Given the description of an element on the screen output the (x, y) to click on. 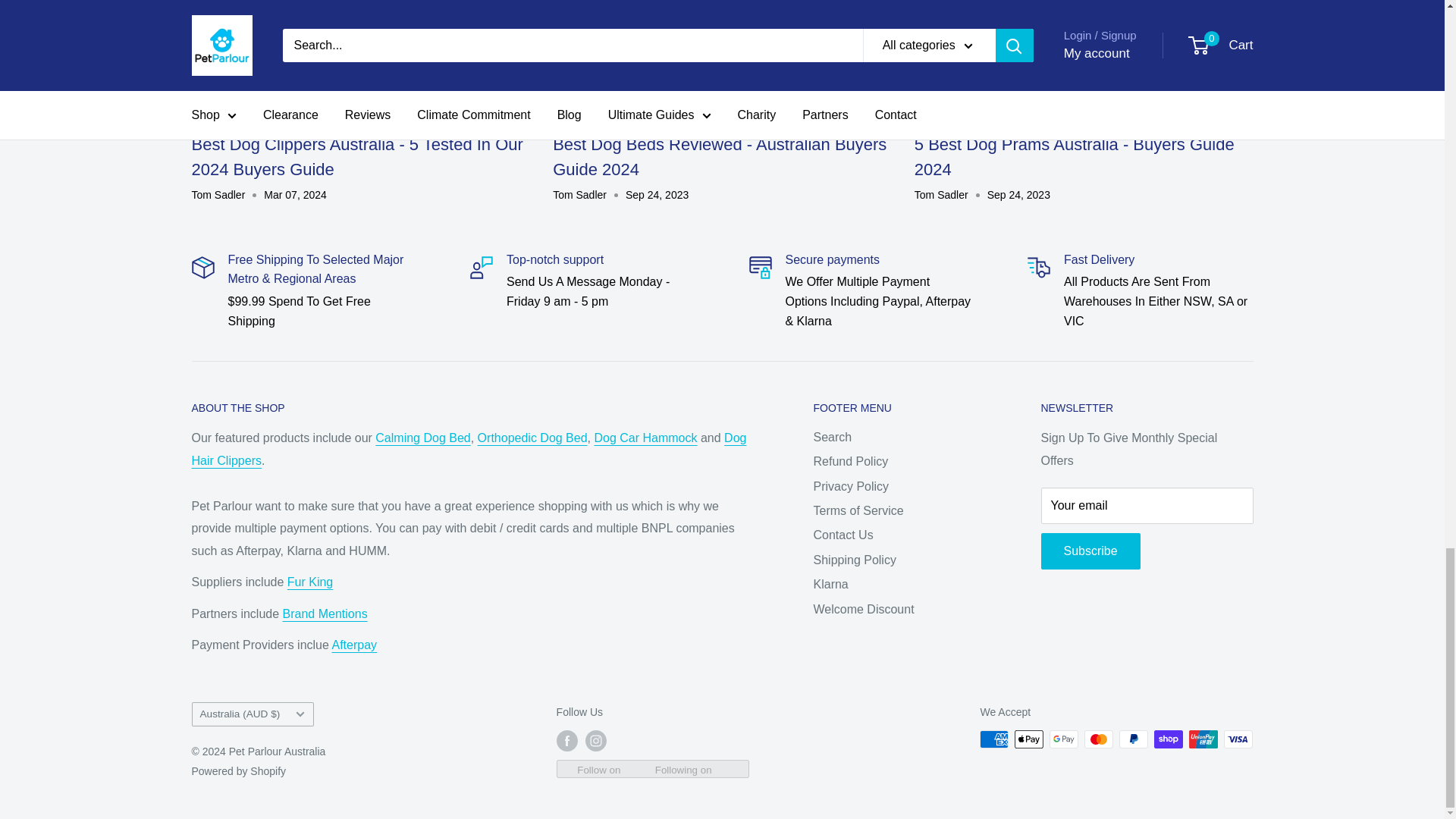
Calming Dog Bed (422, 437)
Dog Car Hammock (645, 437)
Orthopedic Dog Bed (532, 437)
Dog Hair Clippers (467, 448)
